Given the description of an element on the screen output the (x, y) to click on. 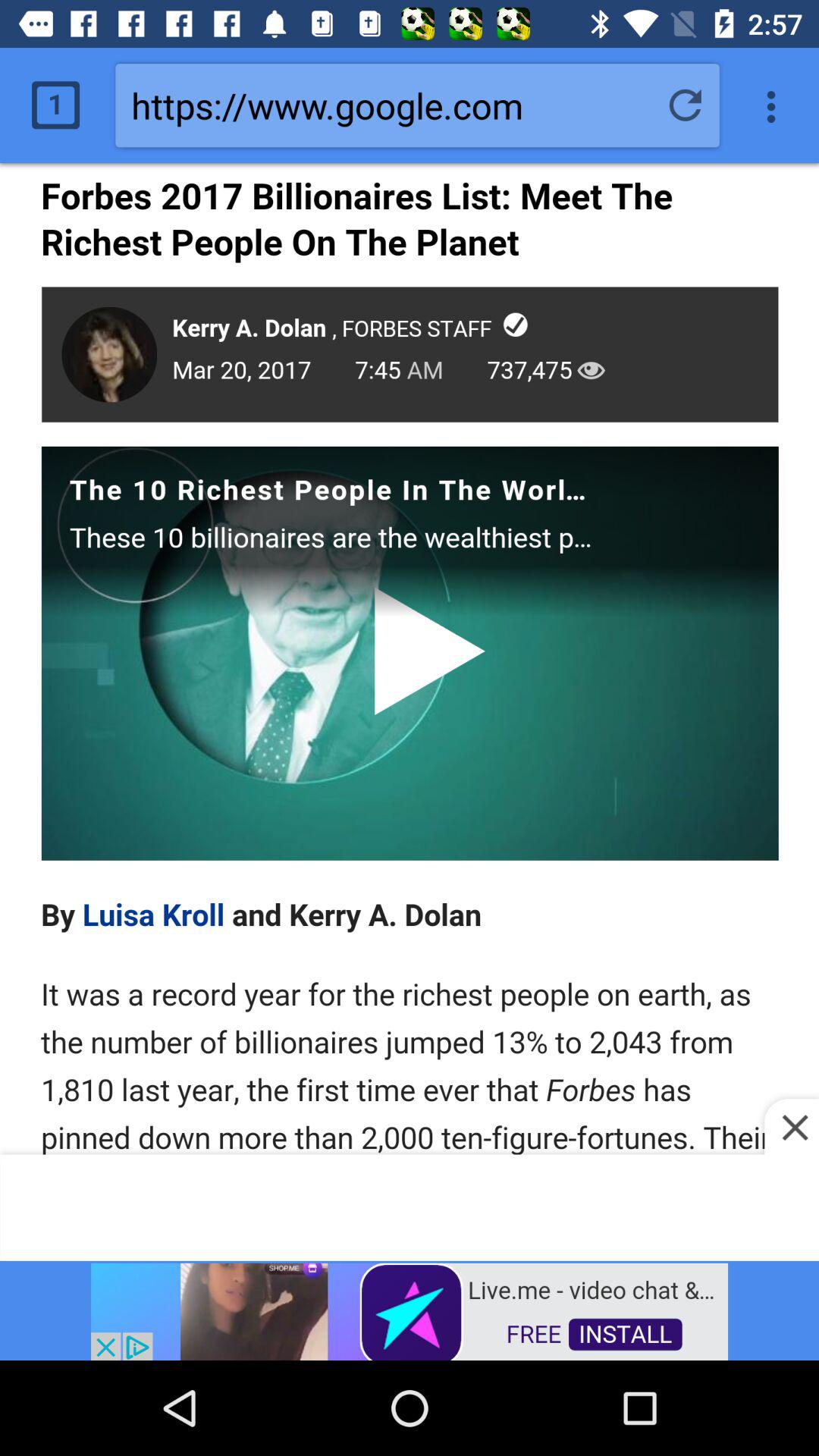
opens the advertisement (409, 1310)
